Given the description of an element on the screen output the (x, y) to click on. 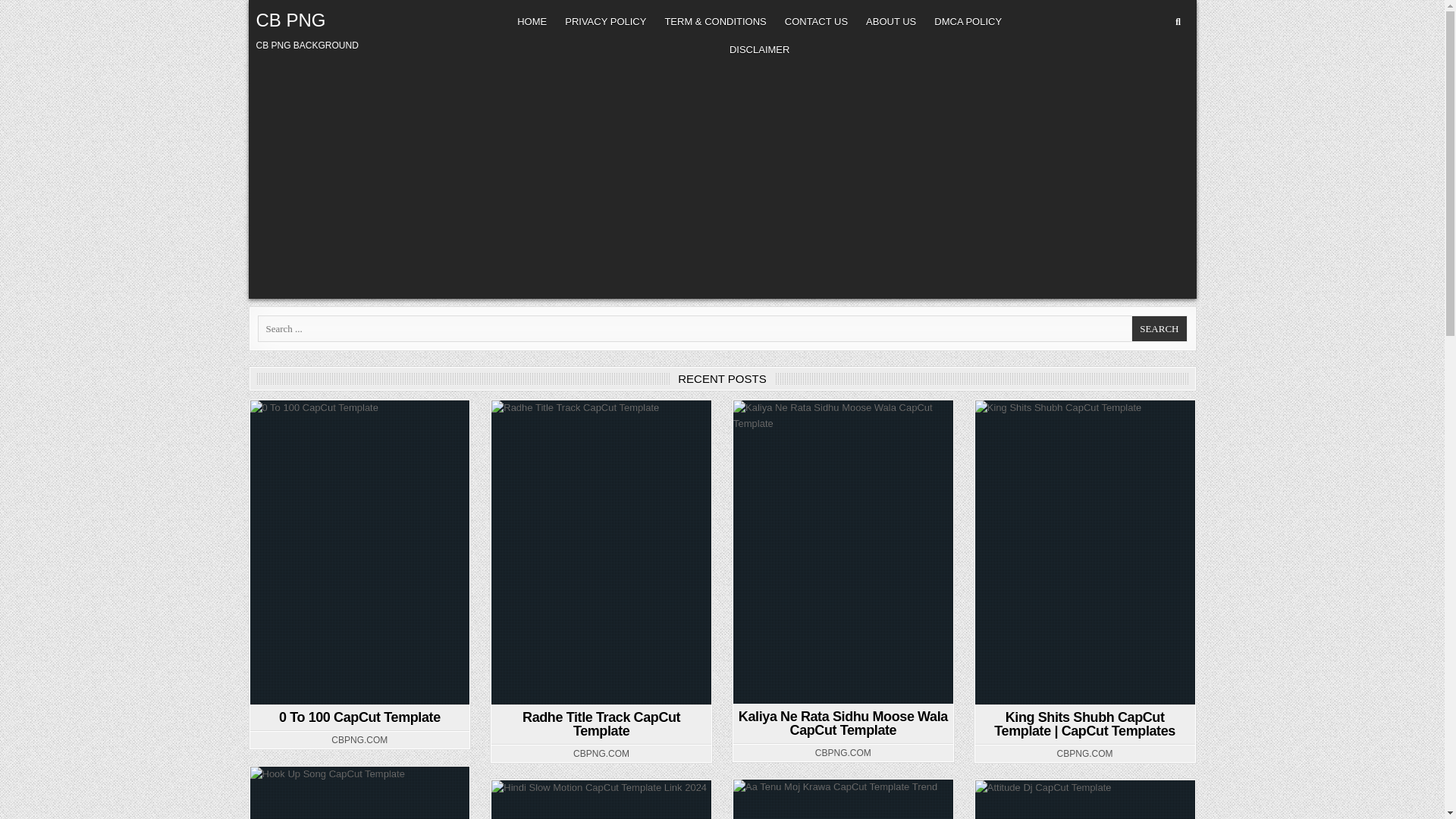
CB PNG (291, 19)
Search (1158, 328)
CBPNG.COM (842, 752)
CBPNG.COM (1085, 753)
ABOUT US (890, 21)
Search (1158, 328)
HOME (532, 21)
CONTACT US (816, 21)
CBPNG.COM (600, 753)
DISCLAIMER (758, 49)
Search (1158, 328)
CBPNG.COM (359, 739)
Radhe Title Track CapCut Template (600, 724)
PRIVACY POLICY (605, 21)
